Given the description of an element on the screen output the (x, y) to click on. 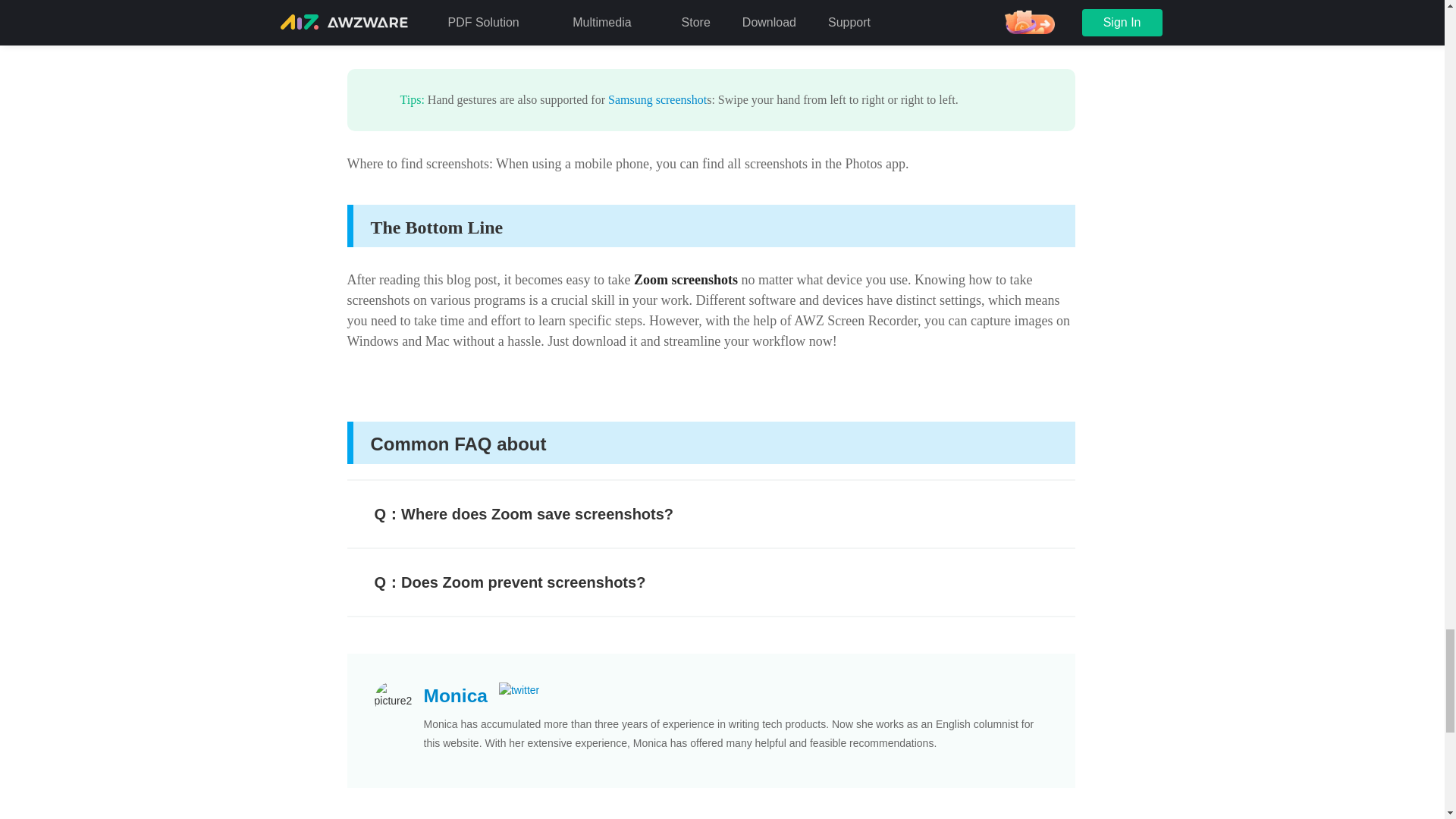
Samsung screenshot (657, 99)
Monica (454, 695)
